Given the description of an element on the screen output the (x, y) to click on. 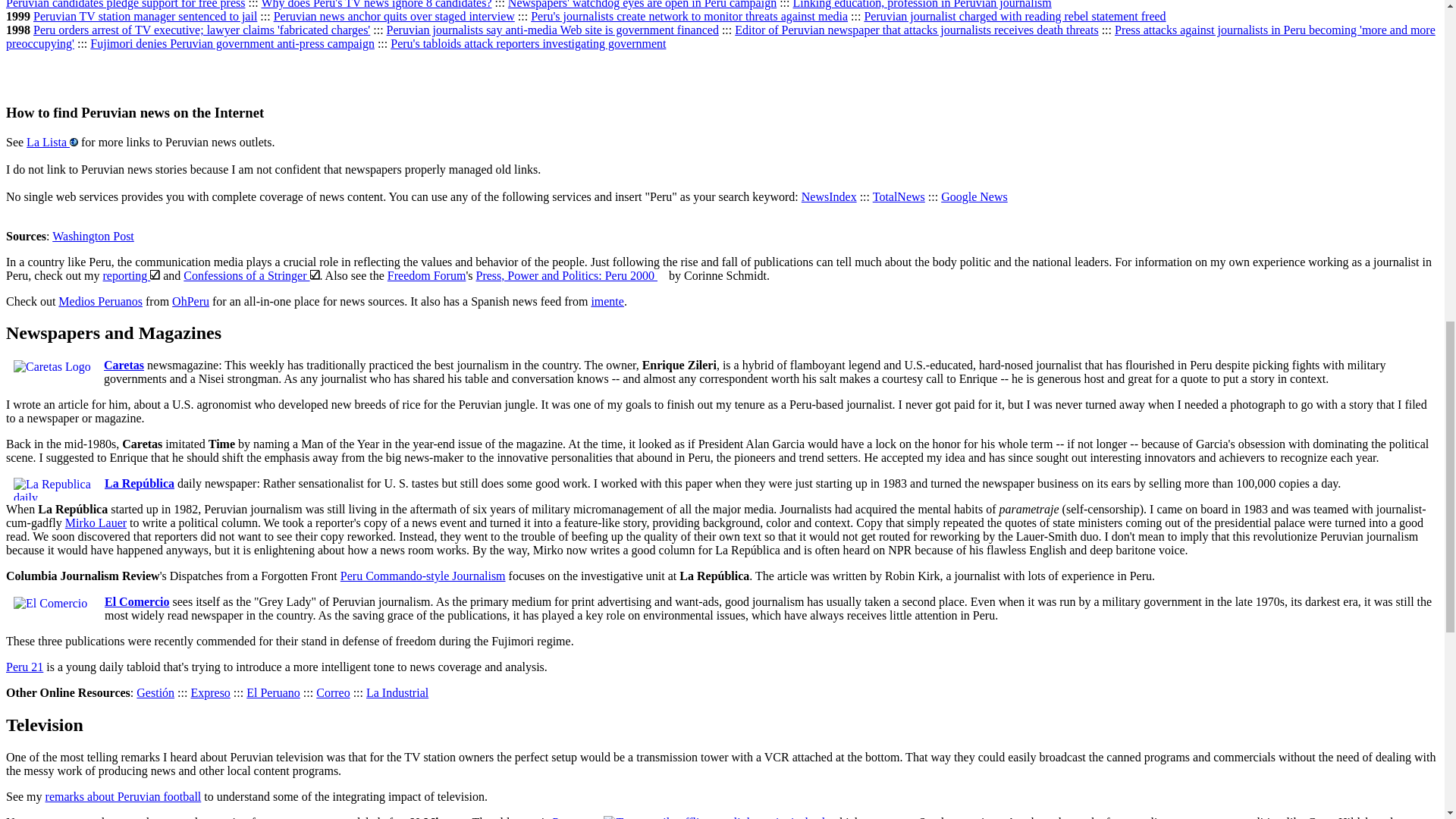
Peruvian TV station manager sentenced to jail (145, 15)
Peruvian candidates pledge support for free press (124, 4)
Why does Peru's TV news ignore 8 candidates? (376, 4)
Peruvian news anchor quits over staged interview (394, 15)
Linking education, profession in Peruvian journalism (922, 4)
Newspapers' watchdog eyes are open in Peru campaign (642, 4)
